Given the description of an element on the screen output the (x, y) to click on. 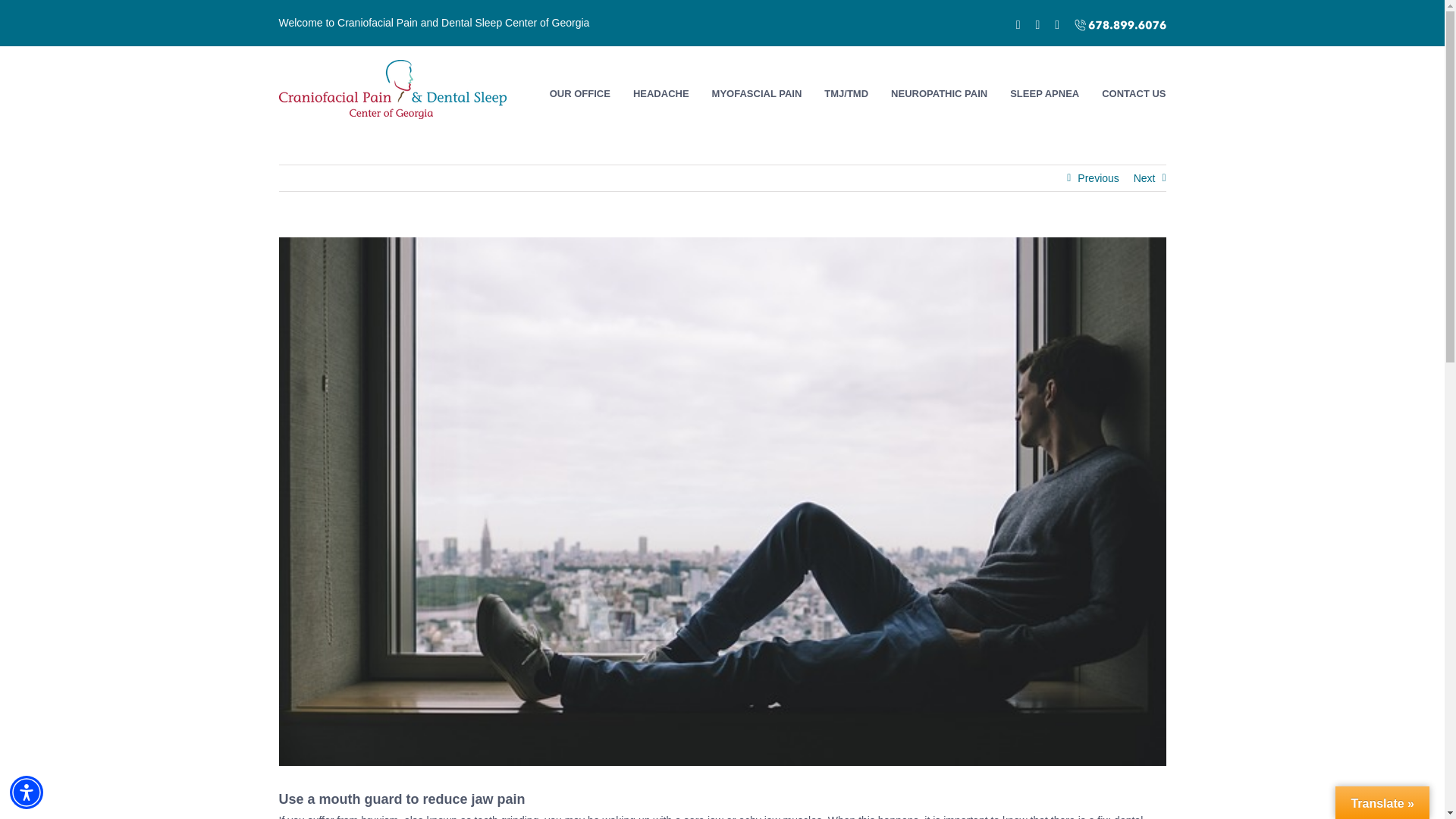
NEUROPATHIC PAIN (939, 92)
MYOFASCIAL PAIN (756, 92)
Accessibility Menu (26, 792)
